Given the description of an element on the screen output the (x, y) to click on. 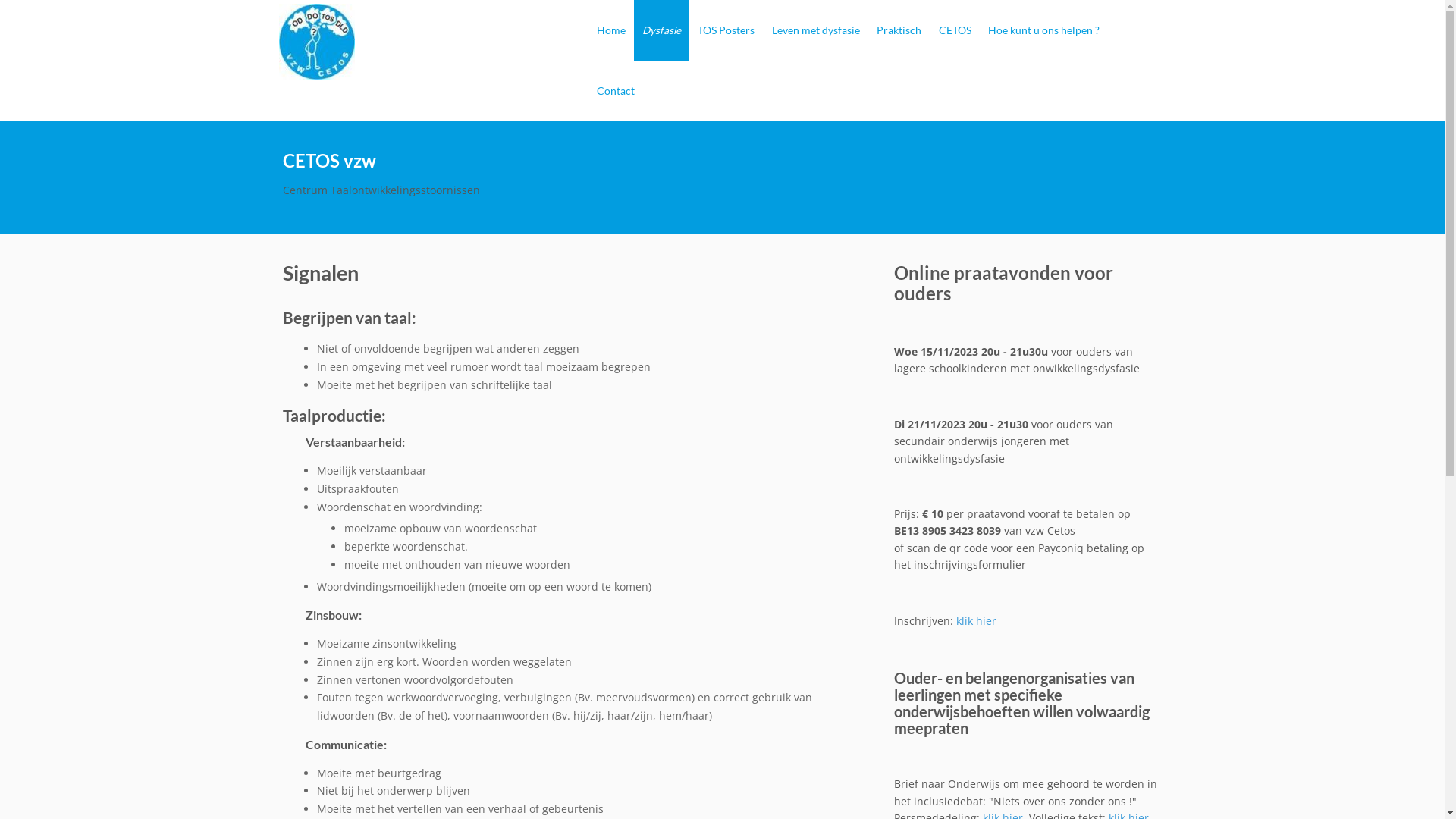
Home Element type: text (610, 30)
Hoe kunt u ons helpen ? Element type: text (1043, 30)
Dysfasie Element type: text (661, 30)
CETOS.be Element type: hover (316, 41)
Leven met dysfasie Element type: text (815, 30)
Contact Element type: text (615, 90)
TOS Posters Element type: text (725, 30)
klik hier Element type: text (976, 620)
Praktisch Element type: text (898, 30)
CETOS Element type: text (954, 30)
